Given the description of an element on the screen output the (x, y) to click on. 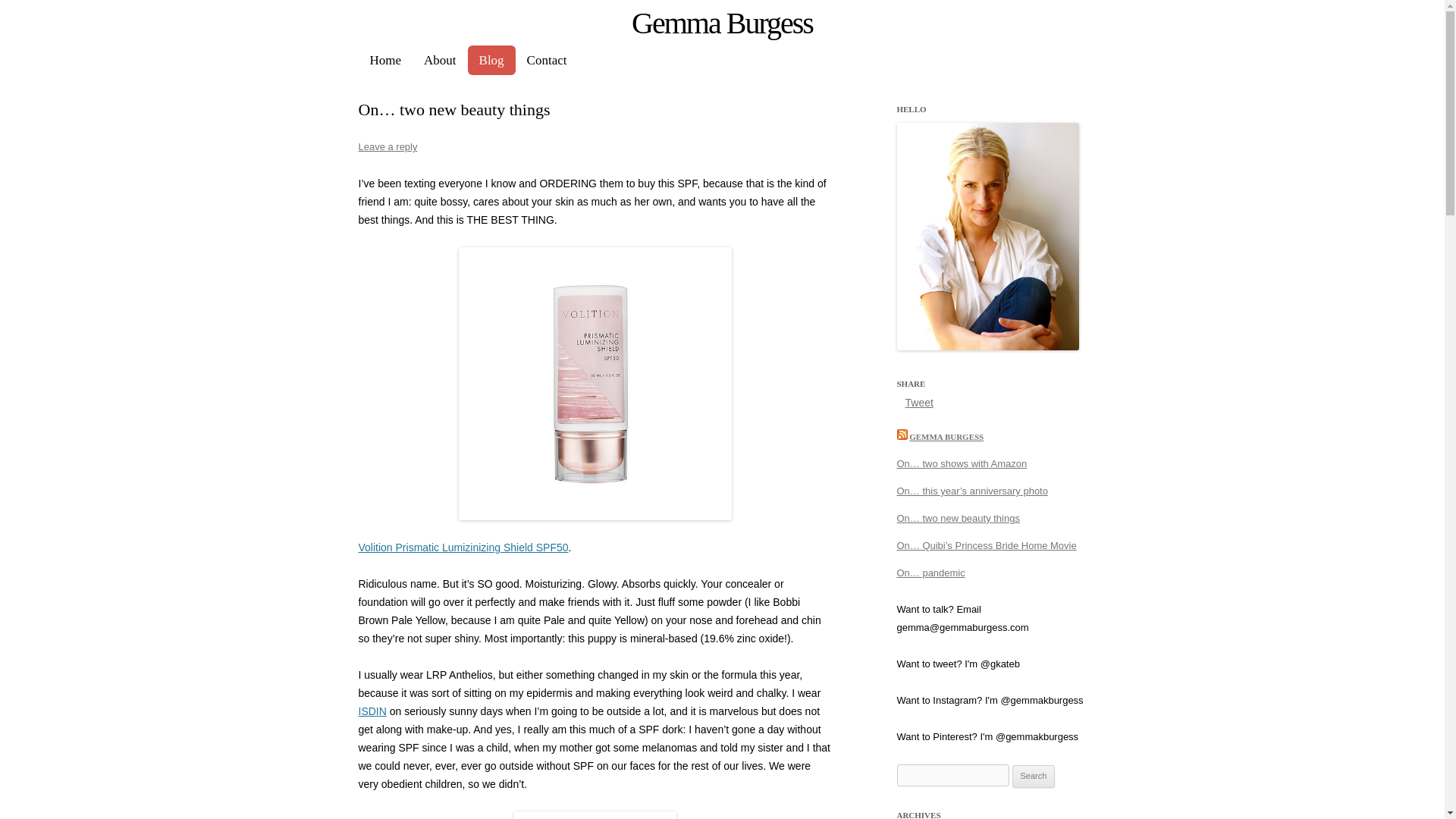
Home (385, 60)
Blog (491, 60)
Volition Prismatic Lumizinizing Shield SPF50 (462, 547)
GEMMA BURGESS (946, 436)
Search (1033, 775)
Tweet (919, 402)
About (439, 60)
Syndicate this content (901, 436)
ISDIN (371, 711)
Search (1033, 775)
Contact (546, 60)
Gemma Burgess (721, 22)
Leave a reply (387, 146)
Gemma Burgess (721, 22)
